Given the description of an element on the screen output the (x, y) to click on. 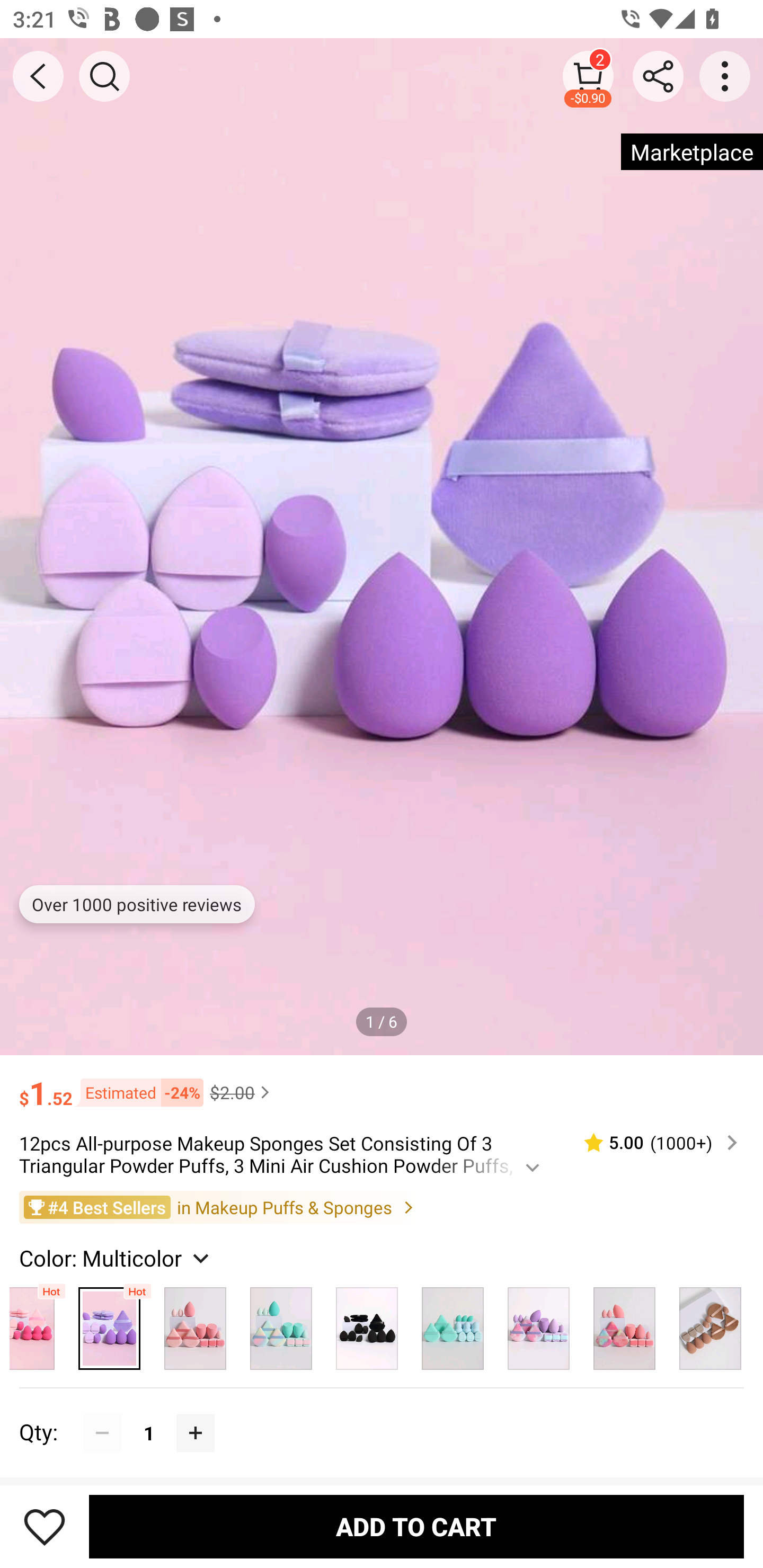
BACK (38, 75)
2 -$0.90 (588, 75)
1 / 6 (381, 1021)
$1.52 Estimated -24% $2.00 (381, 1084)
Estimated -24% (137, 1092)
$2.00 (241, 1091)
5.00 (1000‎+) (653, 1142)
#4 Best Sellers in Makeup Puffs & Sponges (381, 1206)
Color: Multicolor (116, 1258)
Multicolor (38, 1324)
Multicolor (109, 1324)
Multicolor (195, 1324)
Multicolor (281, 1324)
Multicolor (367, 1324)
Multicolor (452, 1324)
Multicolor (538, 1324)
Multicolor (624, 1324)
Multicolor (710, 1324)
Qty: 1 (381, 1413)
ADD TO CART (416, 1526)
Save (44, 1526)
